Given the description of an element on the screen output the (x, y) to click on. 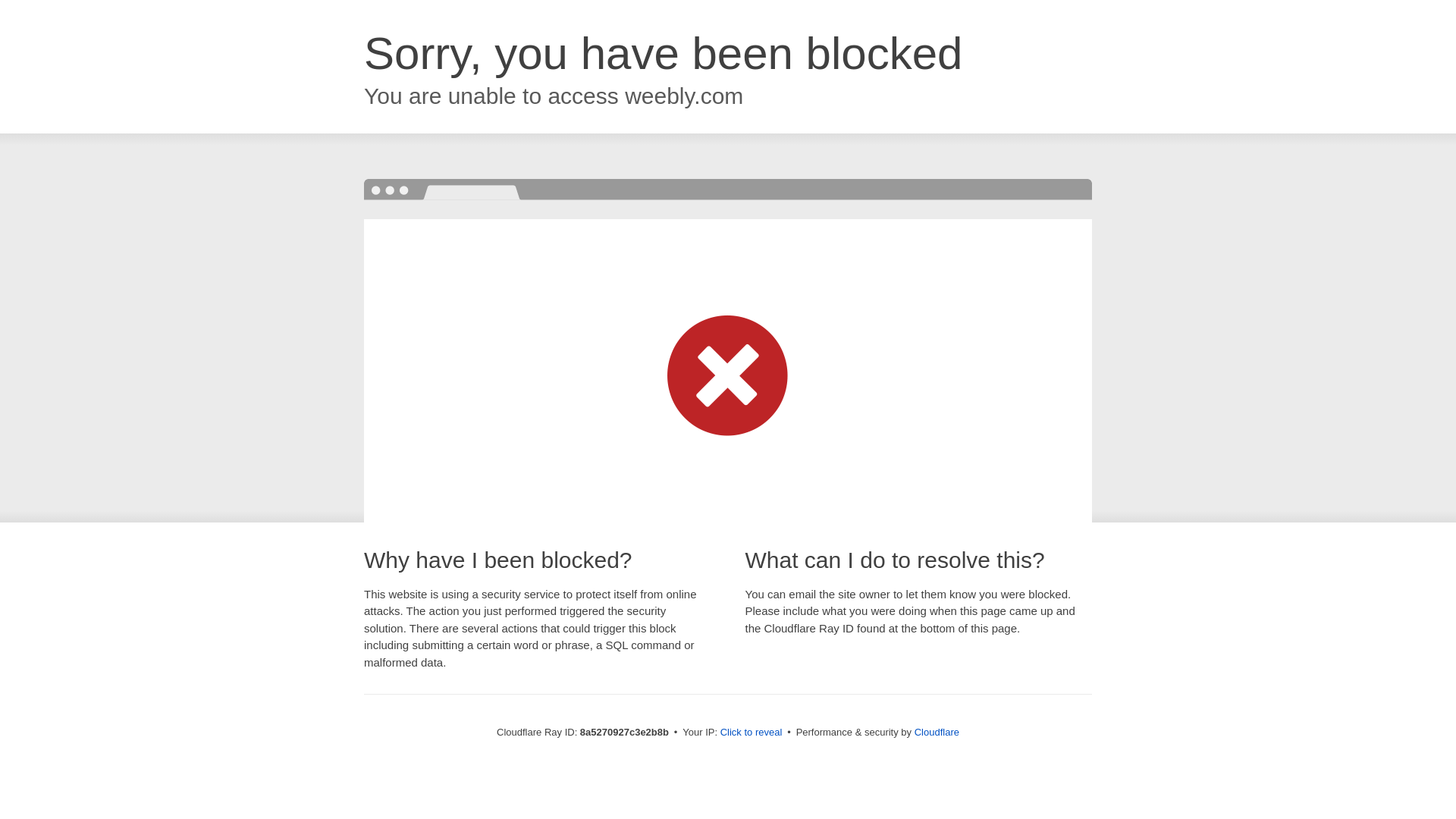
Click to reveal (751, 732)
Cloudflare (936, 731)
